Given the description of an element on the screen output the (x, y) to click on. 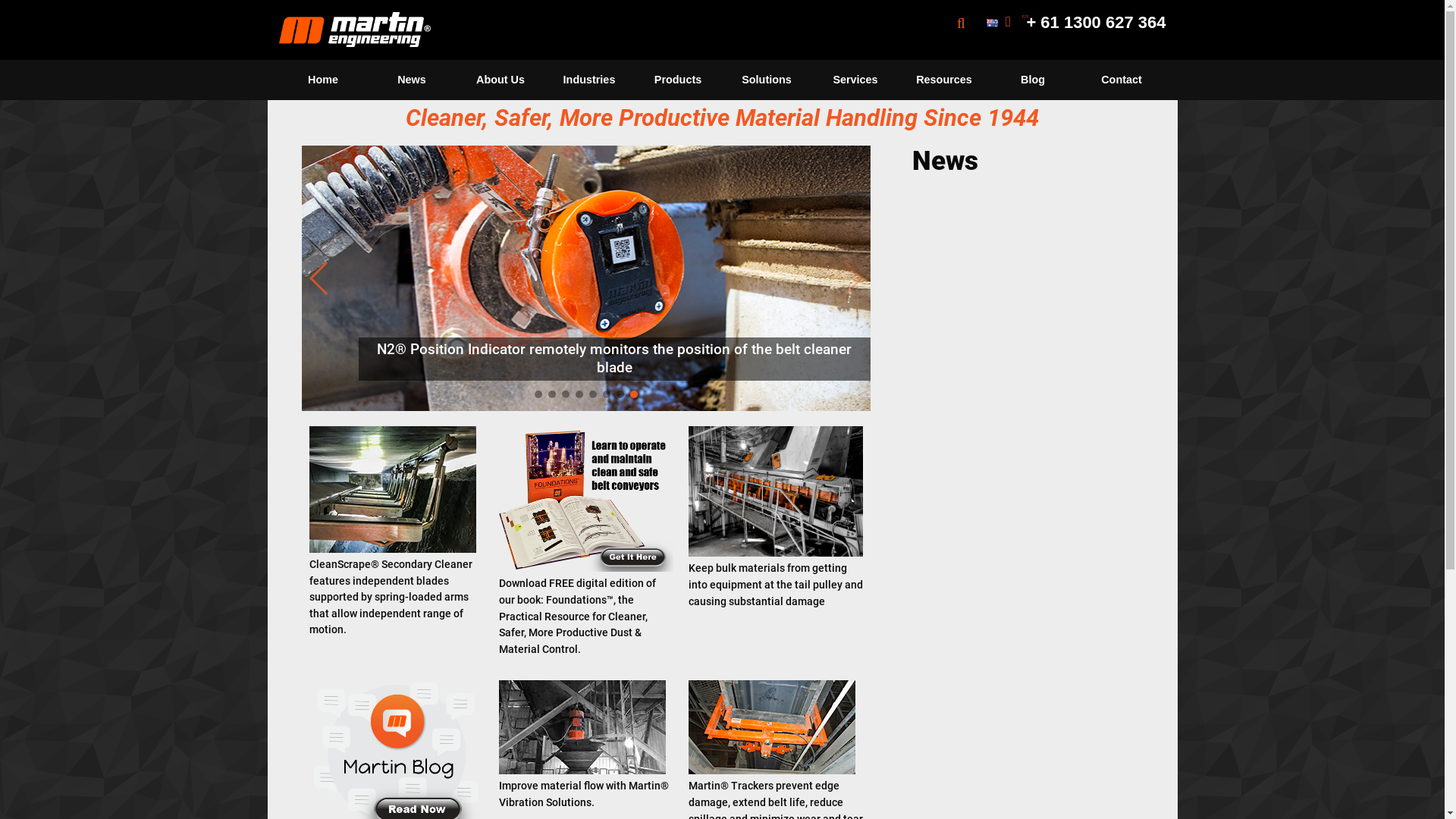
Services Element type: text (855, 79)
Resources Element type: text (943, 79)
Home Element type: text (323, 79)
Contact Element type: text (1120, 79)
News Element type: text (411, 79)
Blog Element type: text (1032, 79)
Industries Element type: text (588, 79)
Solutions Element type: text (765, 79)
Products Element type: text (677, 79)
Martin Element type: text (354, 29)
Search Element type: text (1023, 98)
About Us Element type: text (500, 79)
